Given the description of an element on the screen output the (x, y) to click on. 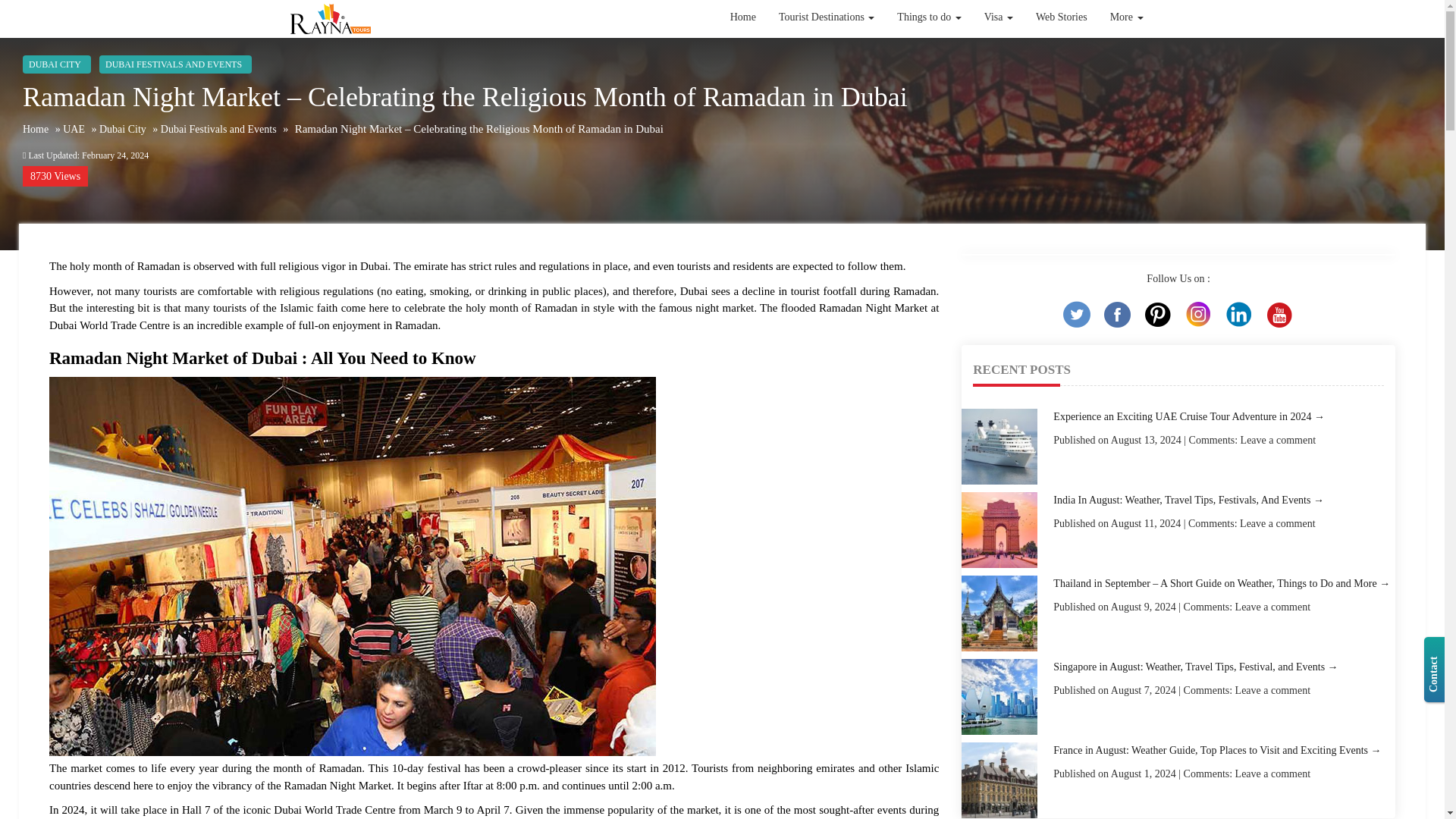
More (1126, 17)
Web Stories (1062, 17)
Visa (998, 17)
Things to do (928, 17)
Home (743, 46)
Home (743, 17)
Tourist Destinations (826, 42)
Things to do (928, 22)
Tourist Destinations (826, 17)
